Given the description of an element on the screen output the (x, y) to click on. 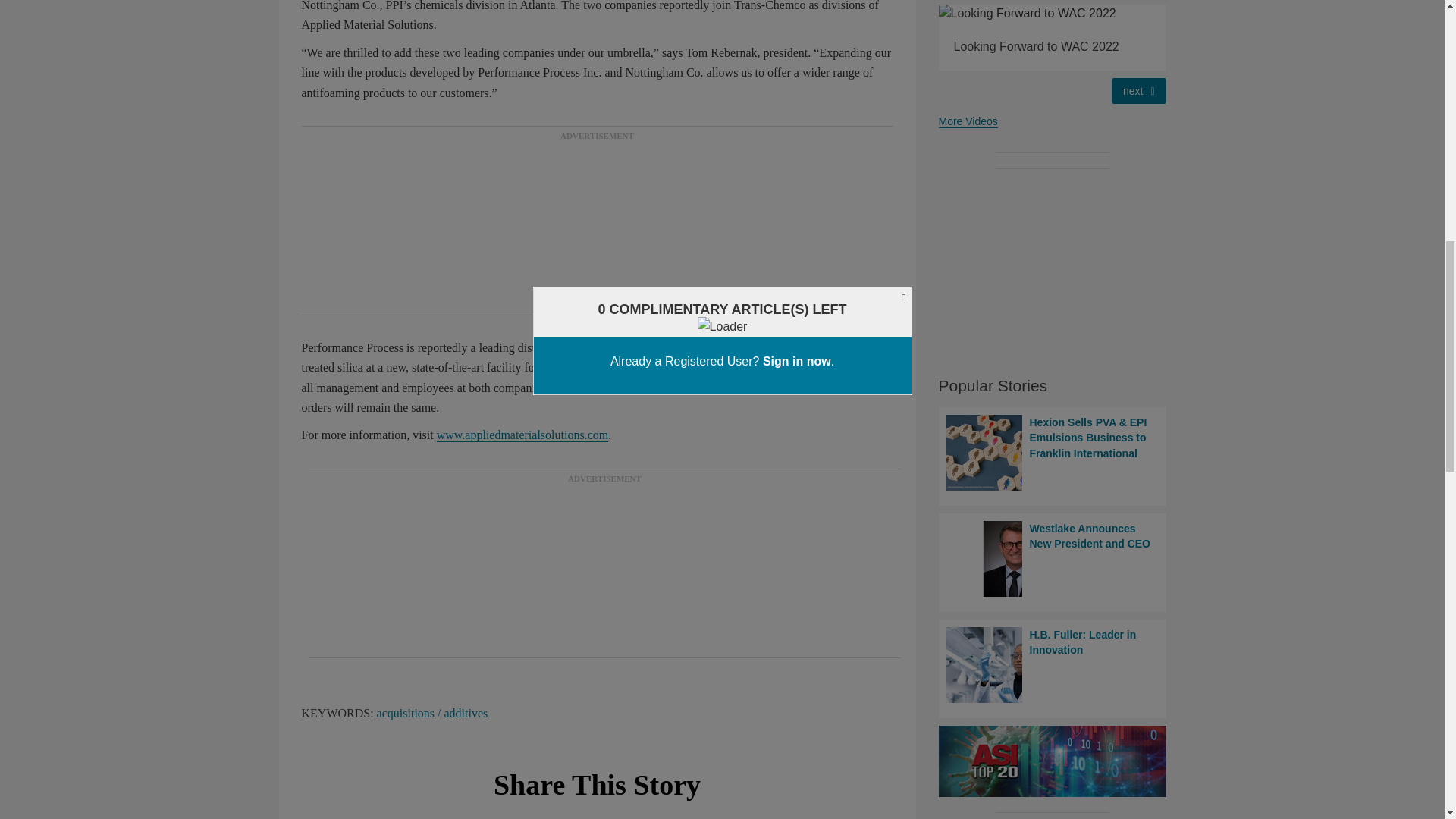
H.B. Fuller: Leader in Innovation (1052, 664)
Westlake Announces New President and CEO (1052, 558)
Looking Forward to WAC 2022 (1052, 13)
